Given the description of an element on the screen output the (x, y) to click on. 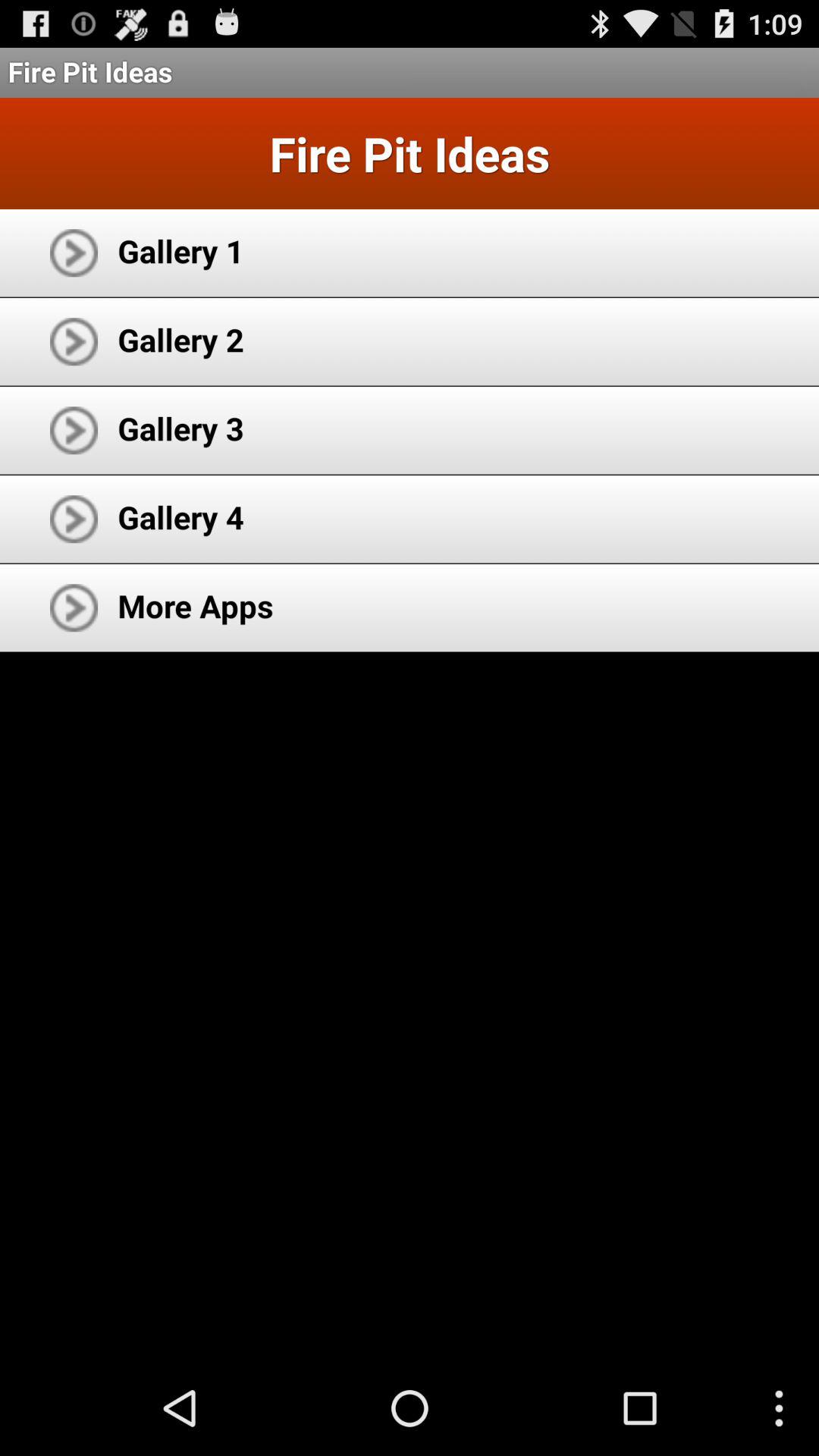
choose gallery 1 icon (180, 250)
